Given the description of an element on the screen output the (x, y) to click on. 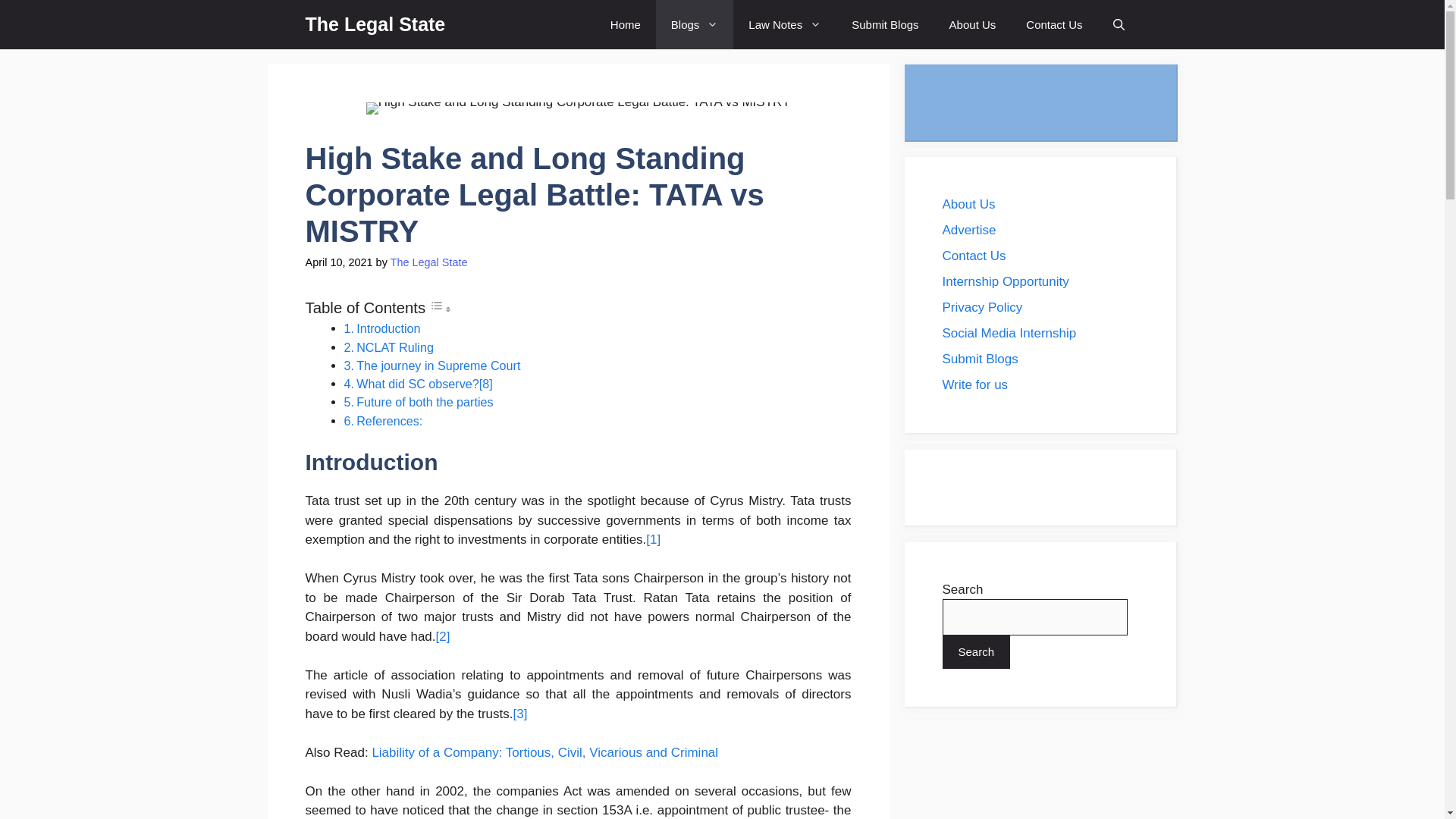
View all posts by The Legal State (428, 262)
Home (625, 24)
The journey in Supreme Court (437, 365)
NCLAT Ruling (394, 346)
Contact Us (1053, 24)
The journey in Supreme Court (437, 365)
The Legal State (428, 262)
The Legal State (374, 24)
About Us (972, 24)
Introduction (388, 327)
